Given the description of an element on the screen output the (x, y) to click on. 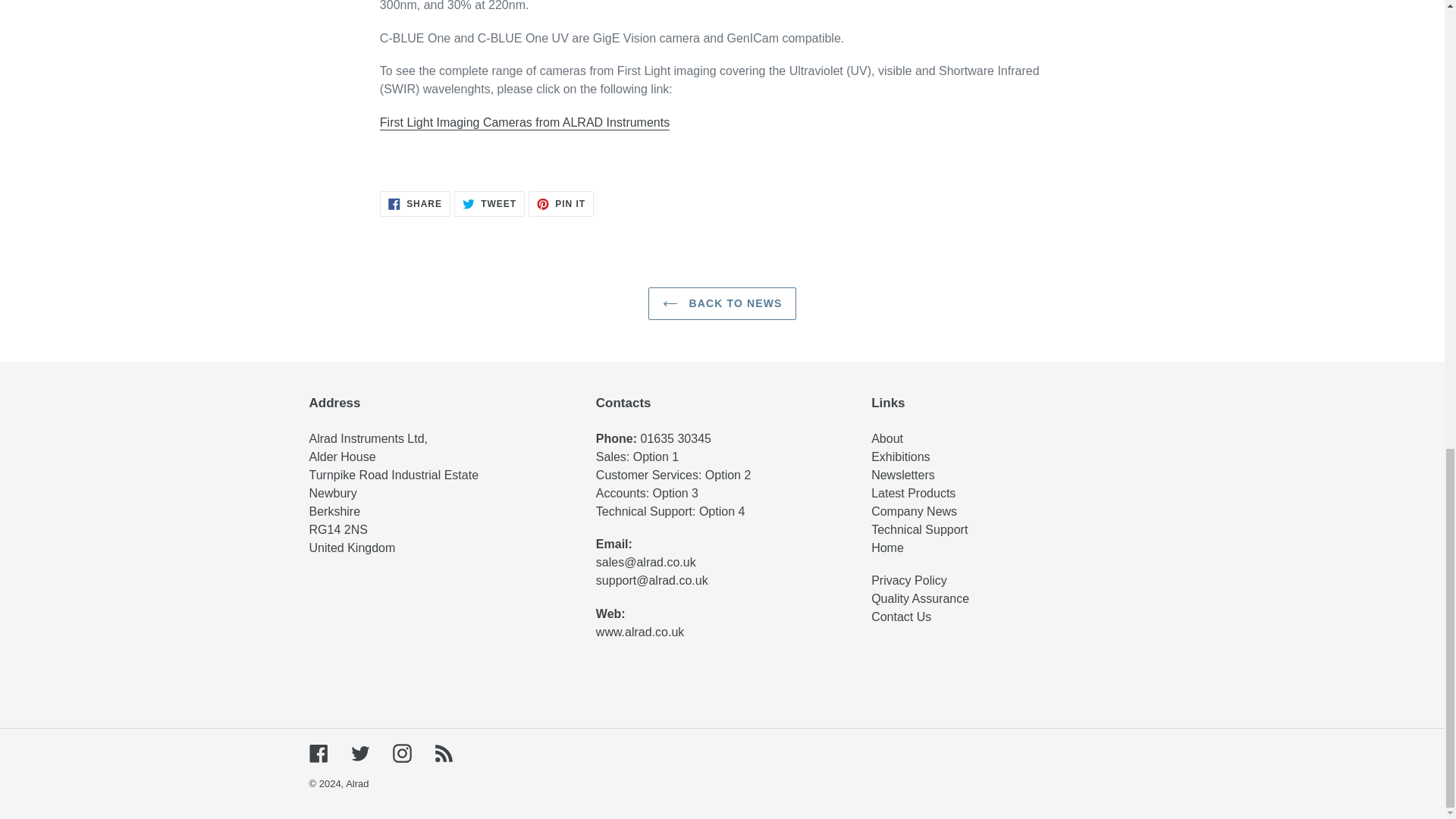
Exhibitions (900, 456)
About (887, 438)
Support (919, 529)
Quality Assurance (919, 598)
Contact (900, 616)
Privacy Policy (908, 580)
Newsletters (902, 474)
